Given the description of an element on the screen output the (x, y) to click on. 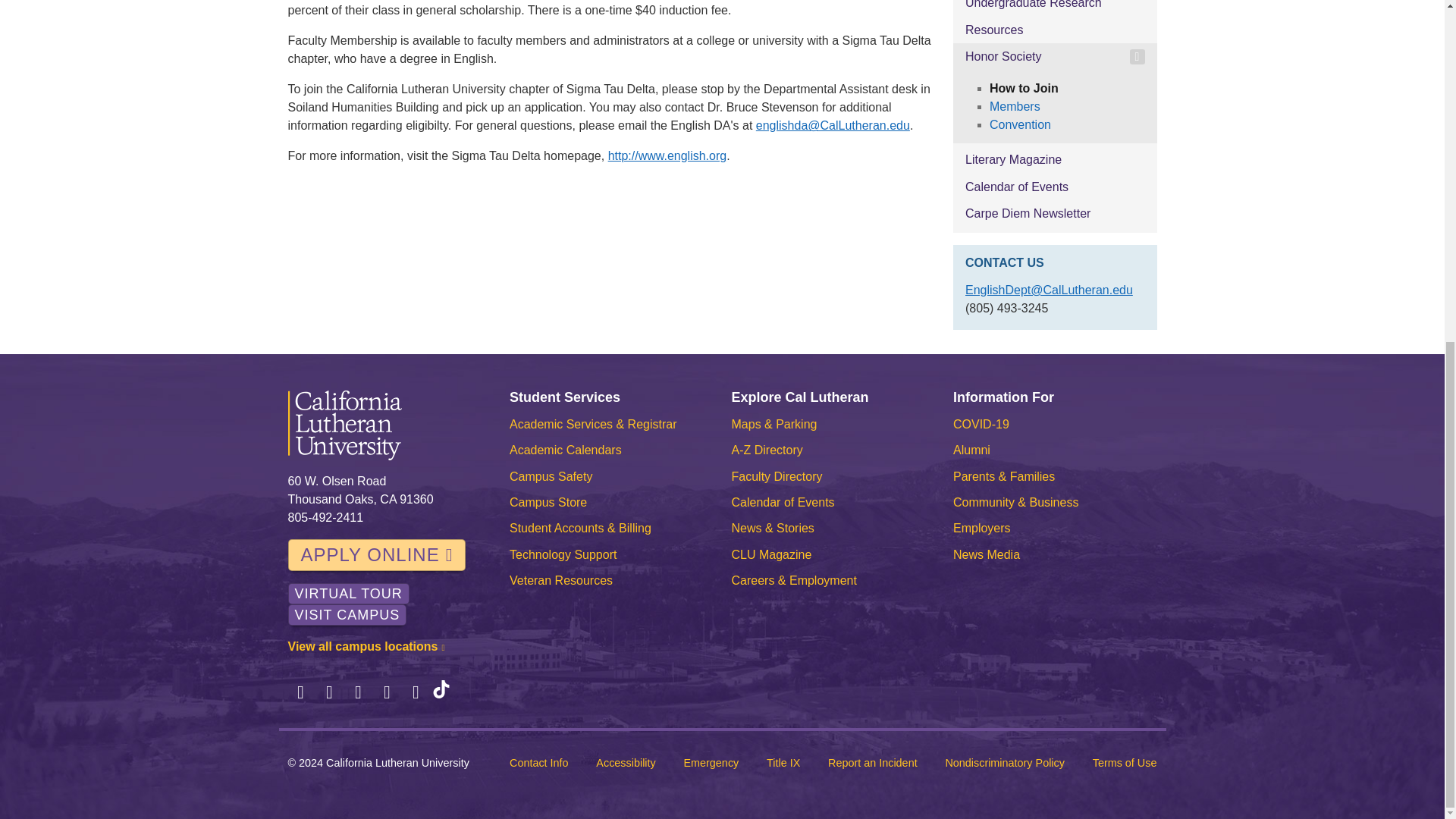
YouTube (416, 691)
TikTok (440, 691)
Instagram (358, 691)
Facebook (301, 691)
LinkedIn (387, 691)
